Given the description of an element on the screen output the (x, y) to click on. 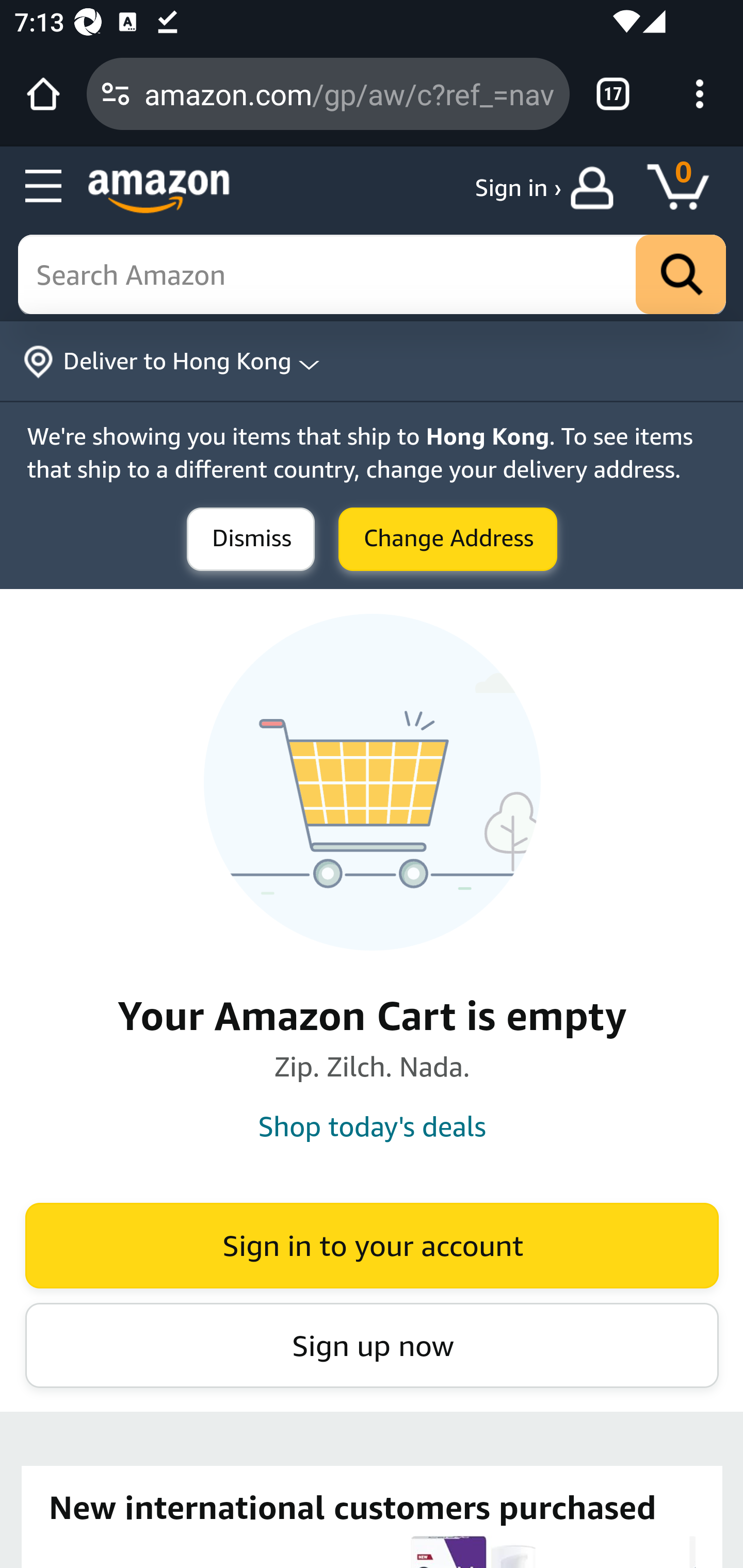
Open the home page (43, 93)
Connection is secure (115, 93)
Switch or close tabs (612, 93)
Customize and control Google Chrome (699, 93)
amazon.com/gp/aw/c?ref_=navm_hdr_cart (349, 92)
Open Menu (44, 187)
Sign in › (518, 188)
your account (596, 188)
Cart 0 (687, 188)
Amazon (158, 191)
Go (681, 275)
Dismiss (250, 539)
Change Address (447, 539)
Shop today's deals (371, 1126)
Sign in to your account (371, 1244)
Sign up now (371, 1345)
